Given the description of an element on the screen output the (x, y) to click on. 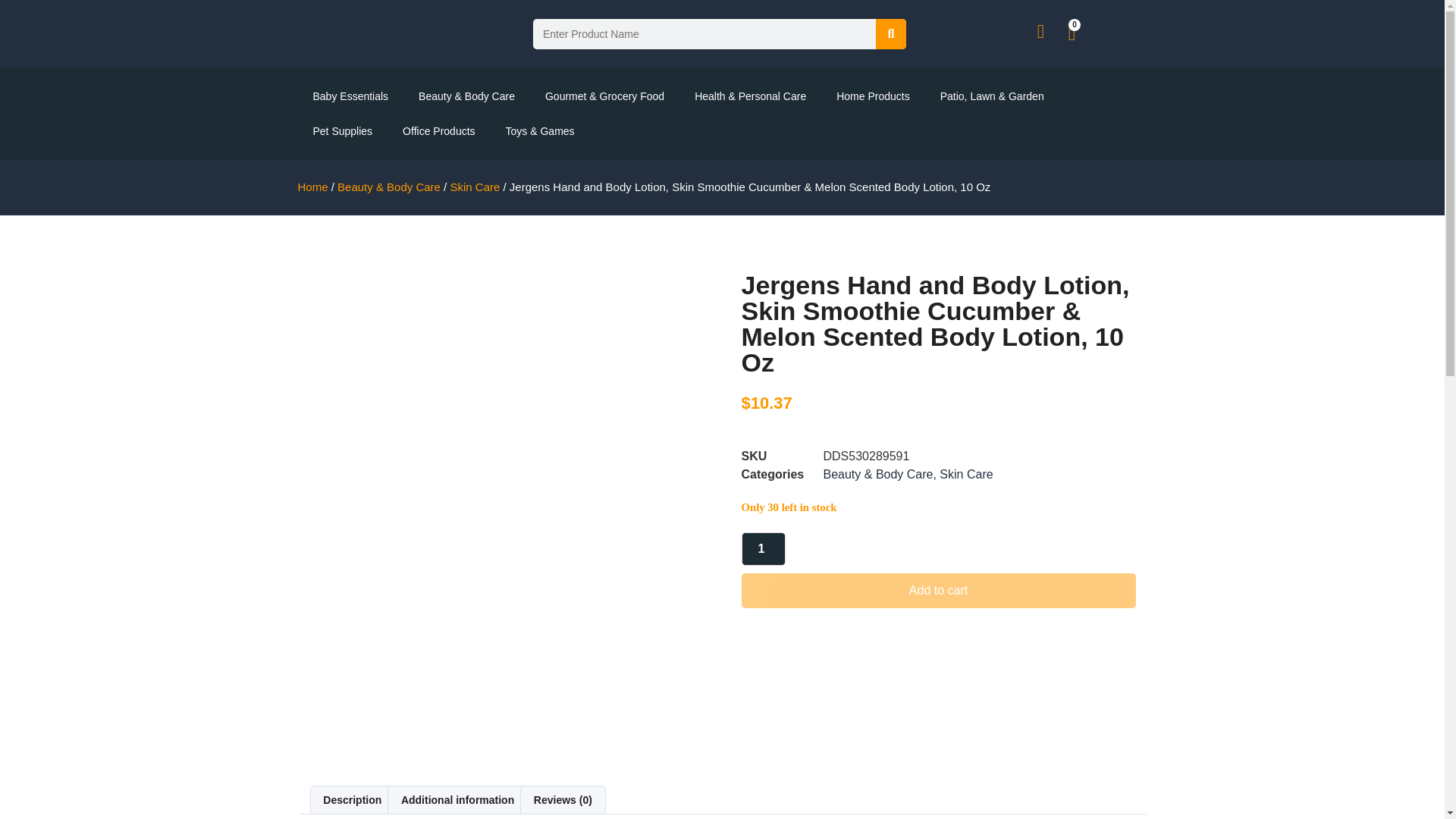
1 (763, 548)
Baby Essentials (350, 95)
0 (1071, 33)
